Given the description of an element on the screen output the (x, y) to click on. 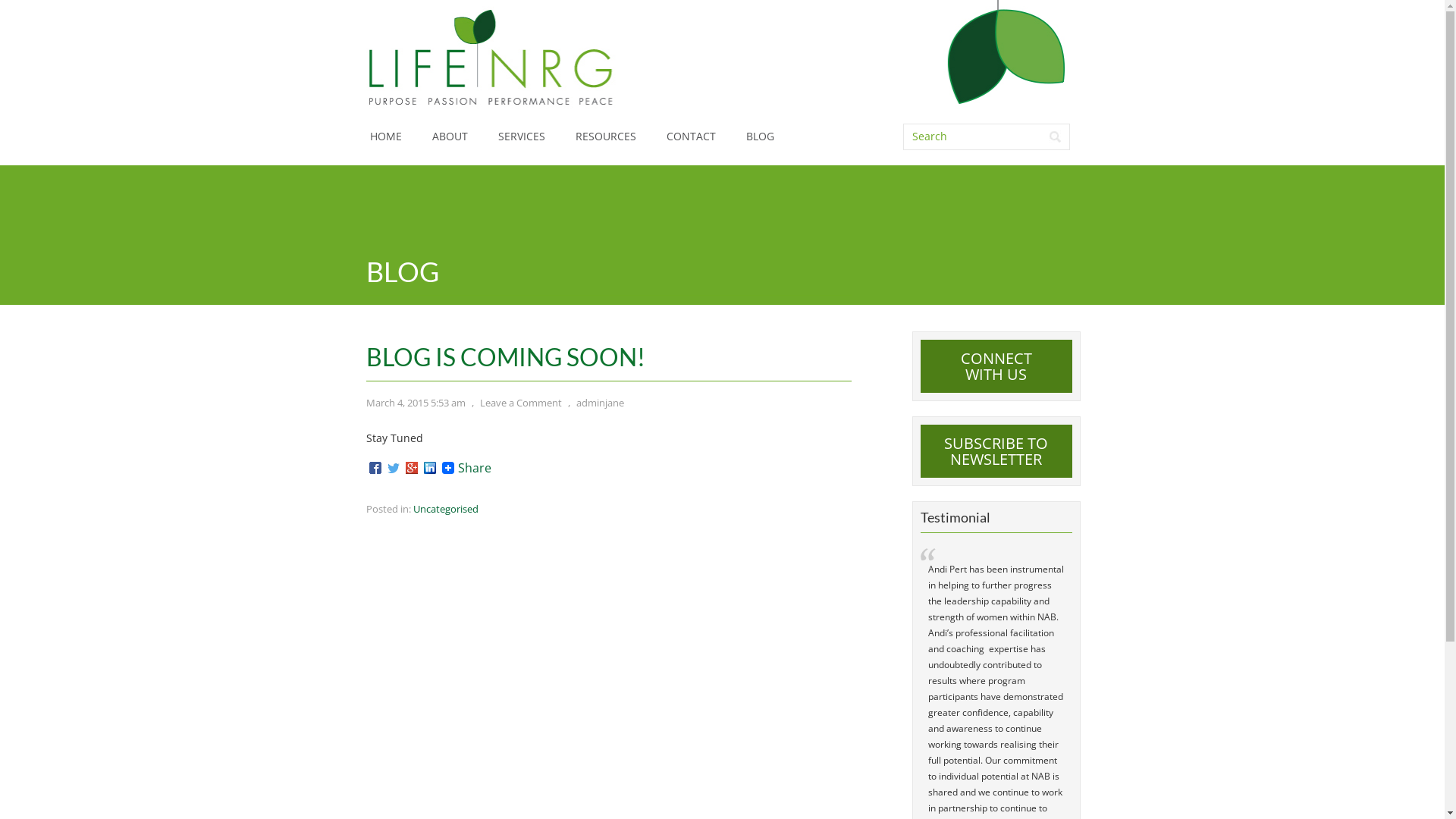
Search Element type: text (1053, 136)
Twitter Element type: hover (392, 467)
Uncategorised Element type: text (444, 508)
ABOUT Element type: text (450, 136)
Google+ Element type: hover (410, 467)
SERVICES Element type: text (520, 136)
adminjane Element type: text (600, 402)
SUBSCRIBE TO NEWSLETTER Element type: text (996, 451)
CONNECT
WITH US Element type: text (995, 366)
Facebook Element type: hover (374, 467)
HOME Element type: text (385, 136)
LinkedIn Element type: hover (429, 467)
CONTACT Element type: text (690, 136)
Leave a Comment Element type: text (520, 402)
Share Element type: text (464, 467)
BLOG Element type: text (760, 136)
RESOURCES Element type: text (604, 136)
March 4, 2015 5:53 am Element type: text (414, 402)
BLOG IS COMING SOON! Element type: text (504, 356)
